Given the description of an element on the screen output the (x, y) to click on. 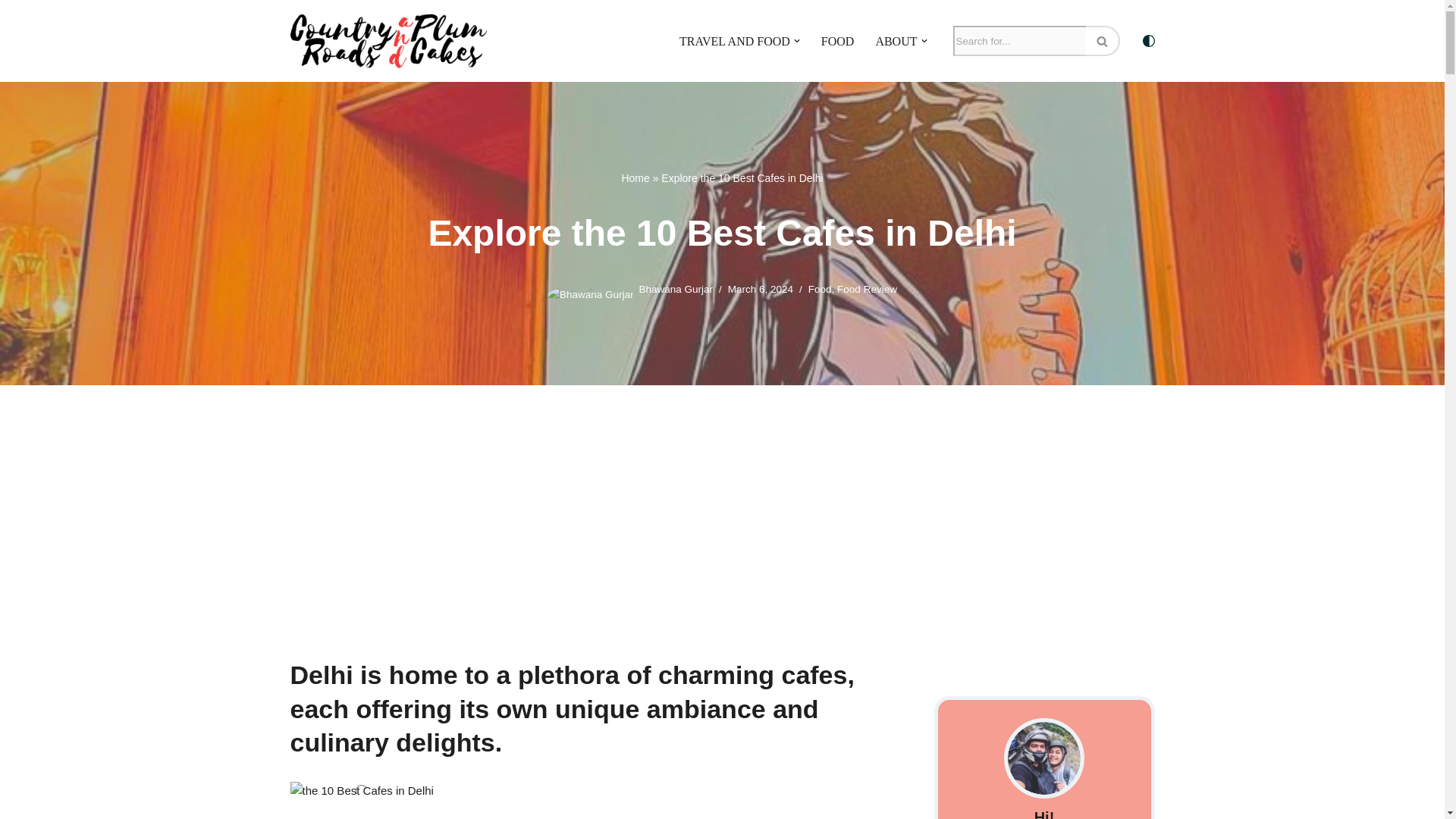
FOOD (837, 41)
TRAVEL AND FOOD (734, 41)
Food Review (866, 288)
Posts by Bhawana Gurjar (676, 288)
Home (635, 177)
Food (819, 288)
ABOUT (896, 41)
Skip to content (11, 31)
Bhawana Gurjar (676, 288)
